Given the description of an element on the screen output the (x, y) to click on. 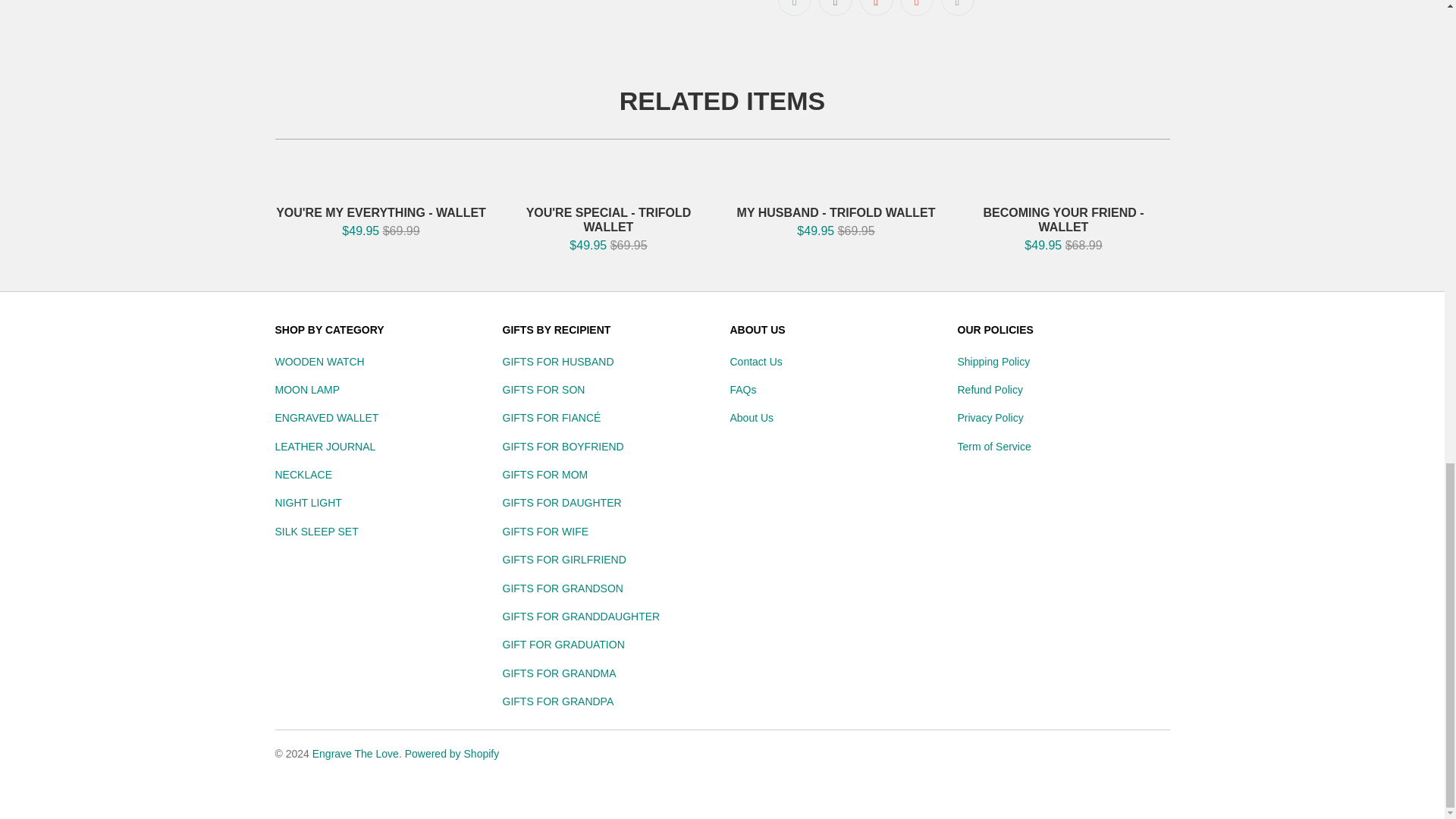
Share this on Facebook (834, 7)
Share this on Twitter (793, 7)
Email this to a friend (957, 7)
Share this on Pinterest (876, 7)
